Given the description of an element on the screen output the (x, y) to click on. 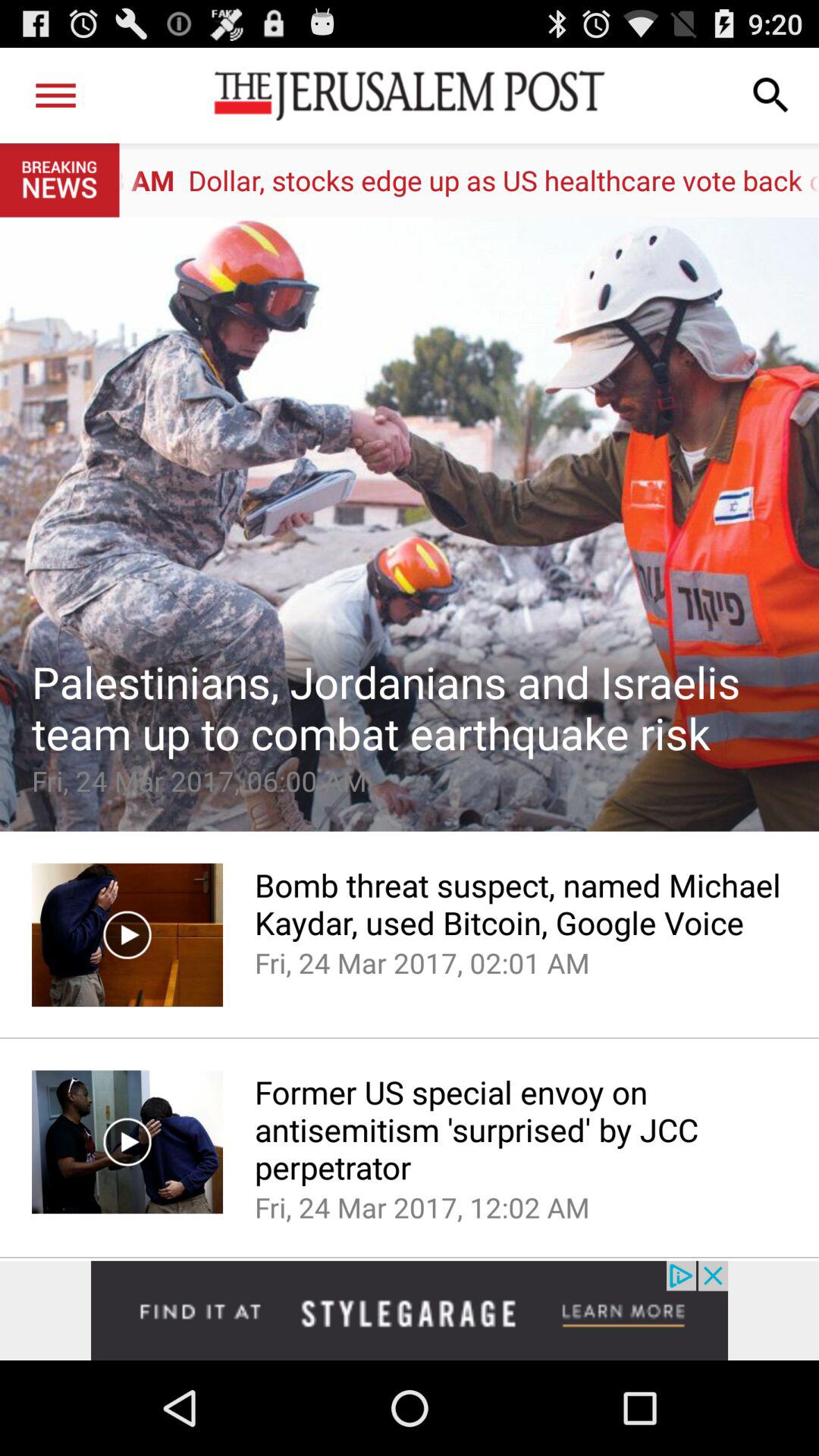
open menu (55, 95)
